Given the description of an element on the screen output the (x, y) to click on. 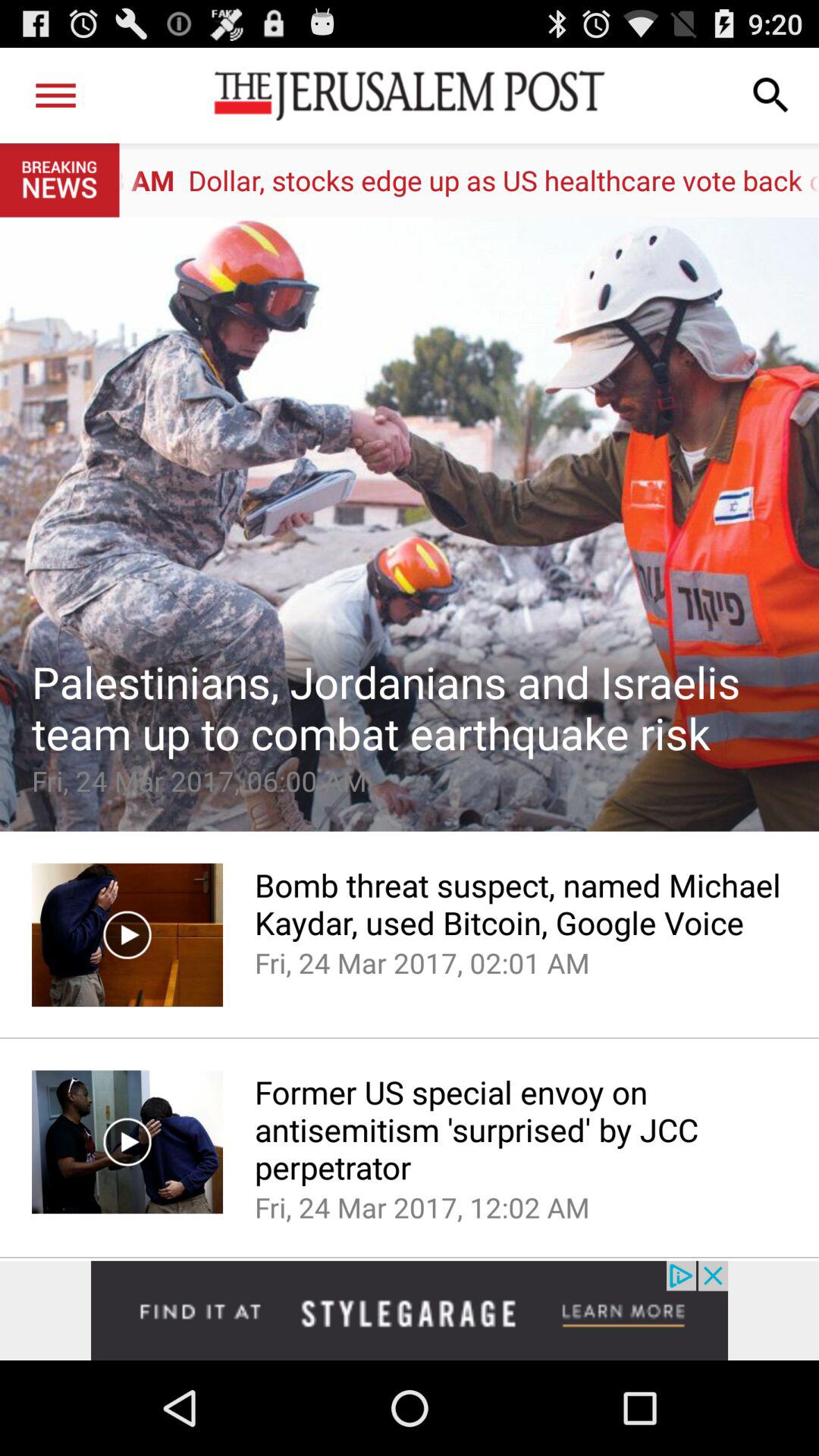
open menu (55, 95)
